Given the description of an element on the screen output the (x, y) to click on. 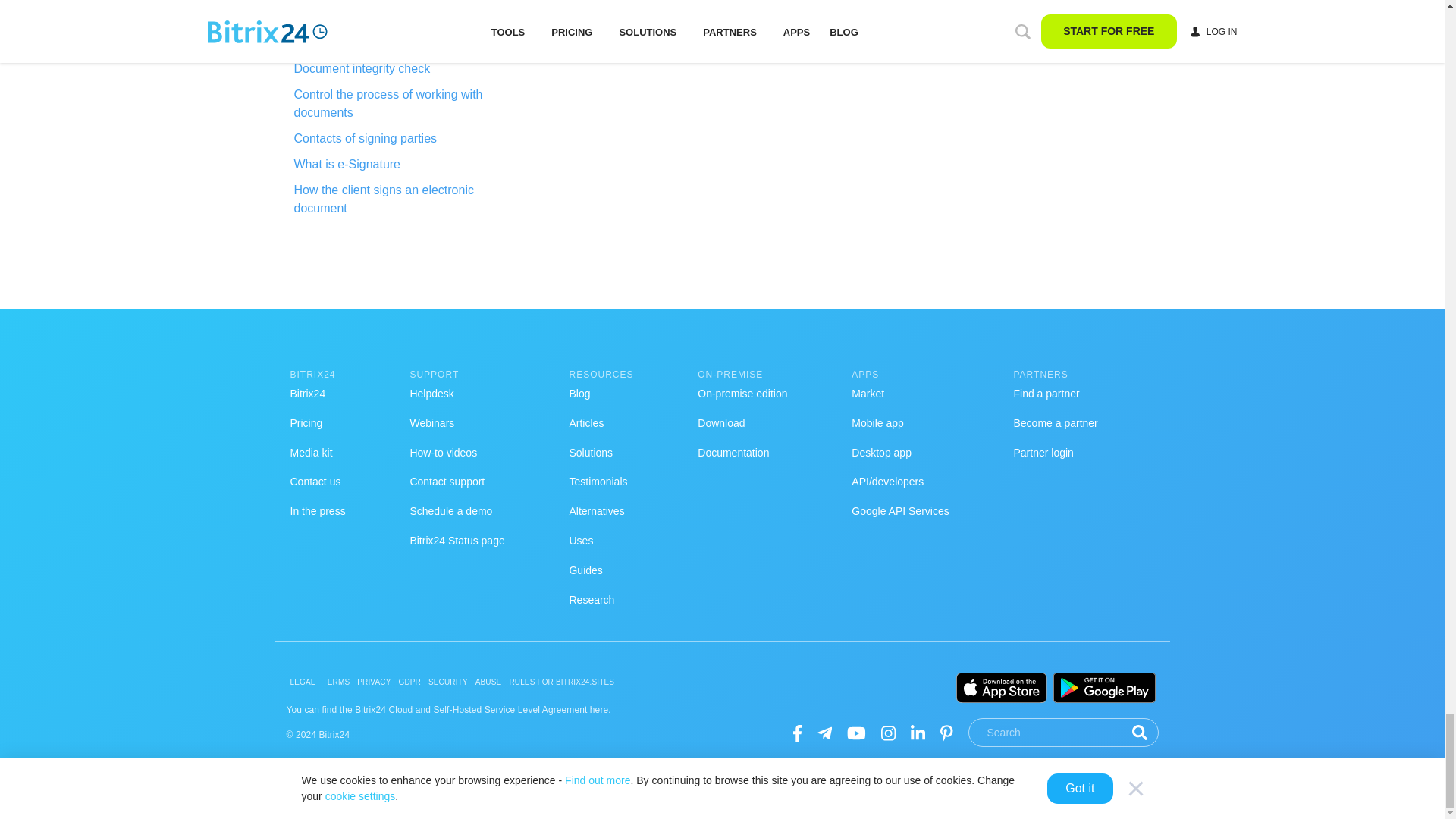
How a first-party director signs an electronic document (406, 13)
Control the process of working with documents (406, 103)
Access permissions to e-Signature (406, 43)
Contacts of signing parties (406, 138)
Document integrity check (406, 68)
